Given the description of an element on the screen output the (x, y) to click on. 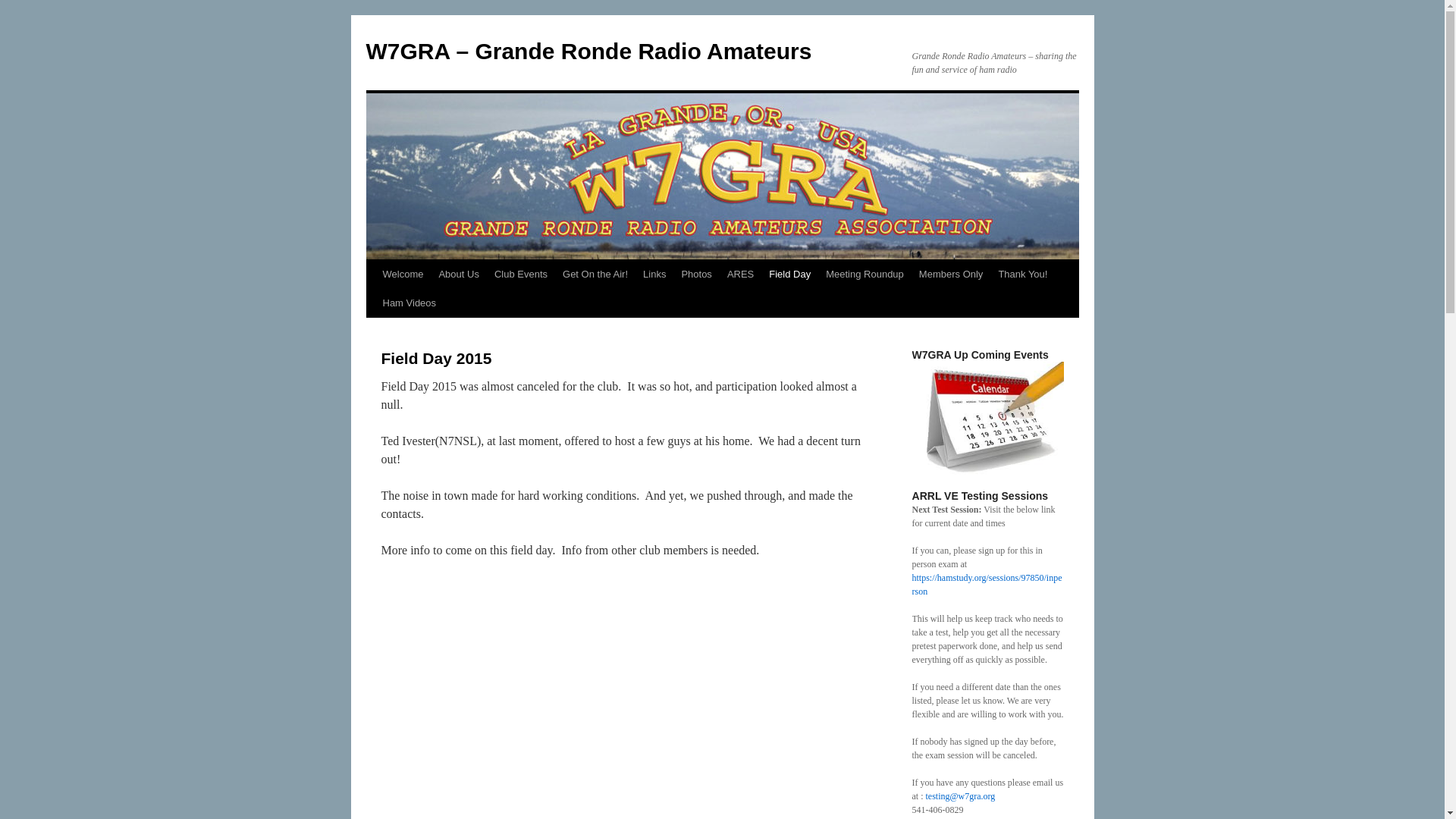
About Us (458, 274)
Photos (695, 274)
Welcome (402, 274)
ARES (740, 274)
Club Events (520, 274)
Get On the Air! (594, 274)
Field Day (789, 274)
Meeting Roundup (864, 274)
Links (653, 274)
                         W7GRA Up Coming Events (986, 418)
